Given the description of an element on the screen output the (x, y) to click on. 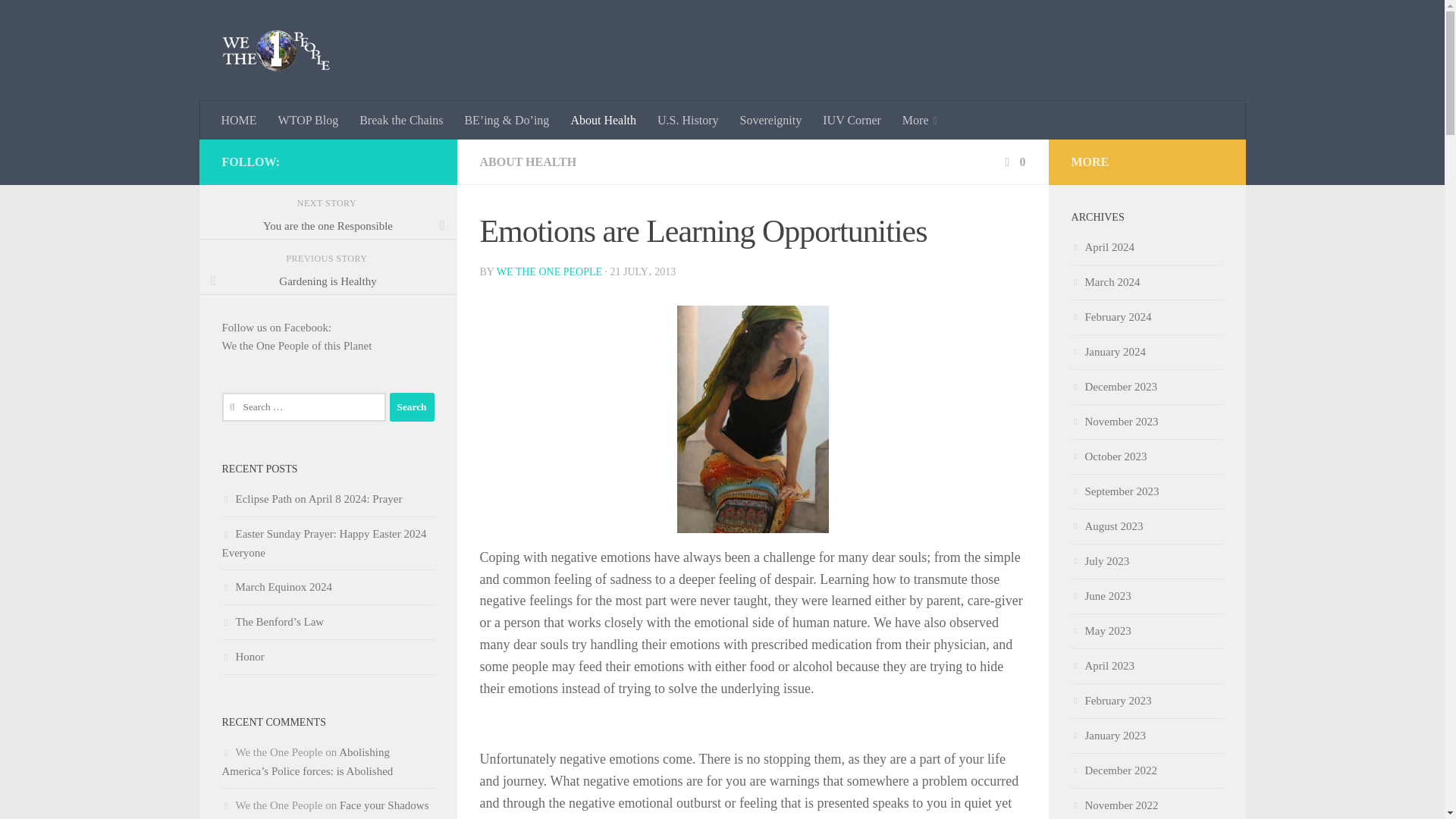
U.S. History (687, 120)
Break the Chains (400, 120)
Search (411, 407)
Posts by We the One People (549, 271)
WTOP Blog (308, 120)
IUV Corner (851, 120)
Sovereignity (770, 120)
More (919, 120)
Search (411, 407)
WE THE ONE PEOPLE (549, 271)
Skip to content (59, 20)
HOME (239, 120)
0 (1013, 161)
ABOUT HEALTH (527, 161)
About Health (602, 120)
